Given the description of an element on the screen output the (x, y) to click on. 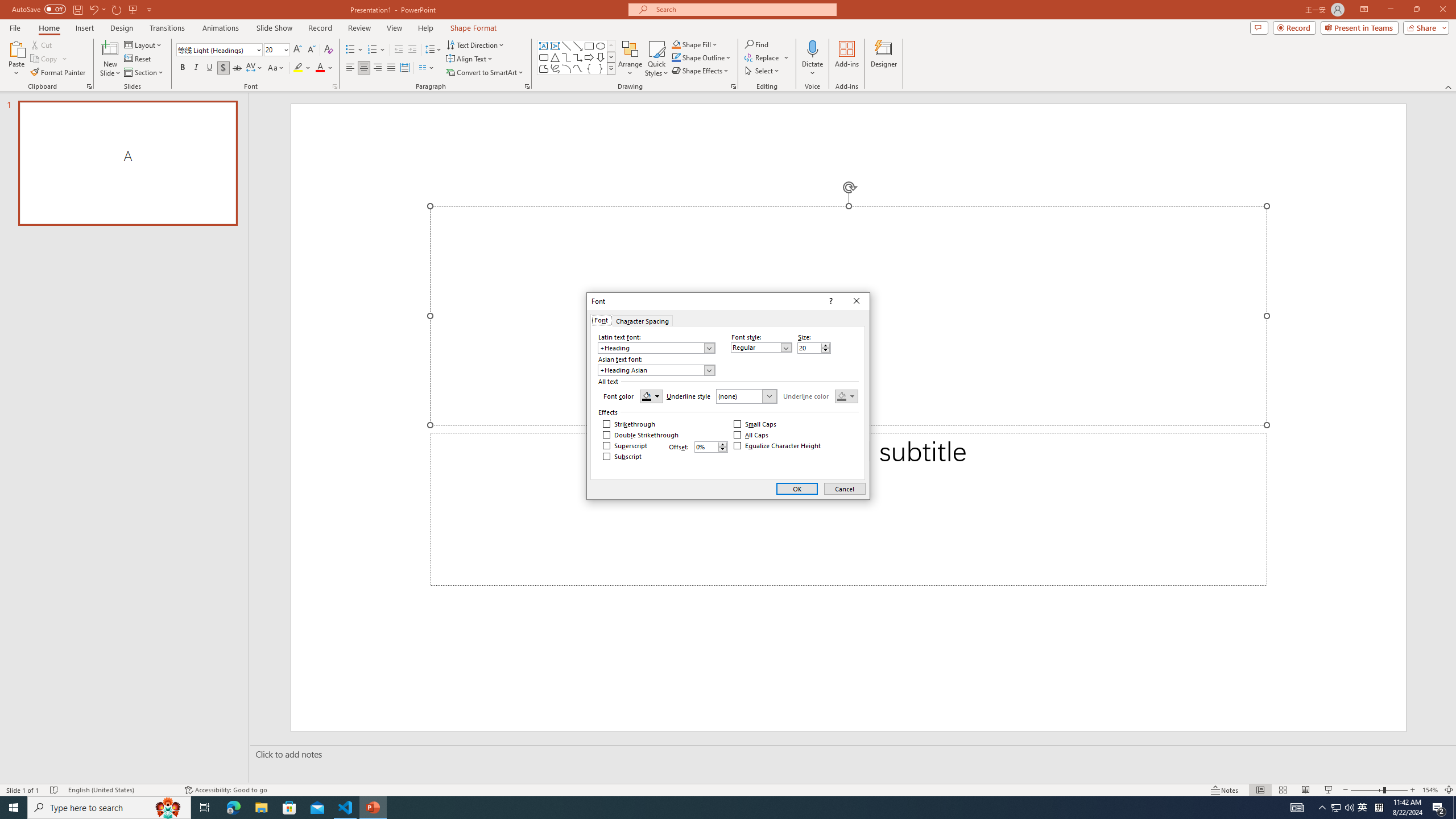
Cut (42, 44)
Accessibility Checker Accessibility: Good to go (226, 790)
Freeform: Shape (543, 68)
Microsoft Store (289, 807)
Connector: Elbow Arrow (577, 57)
Shape Outline (701, 56)
Arrow: Right (589, 57)
Show desktop (1454, 807)
Dictate (812, 48)
Bullets (349, 49)
Offset (711, 446)
Clear Formatting (327, 49)
Size (814, 347)
Select (762, 69)
